Given the description of an element on the screen output the (x, y) to click on. 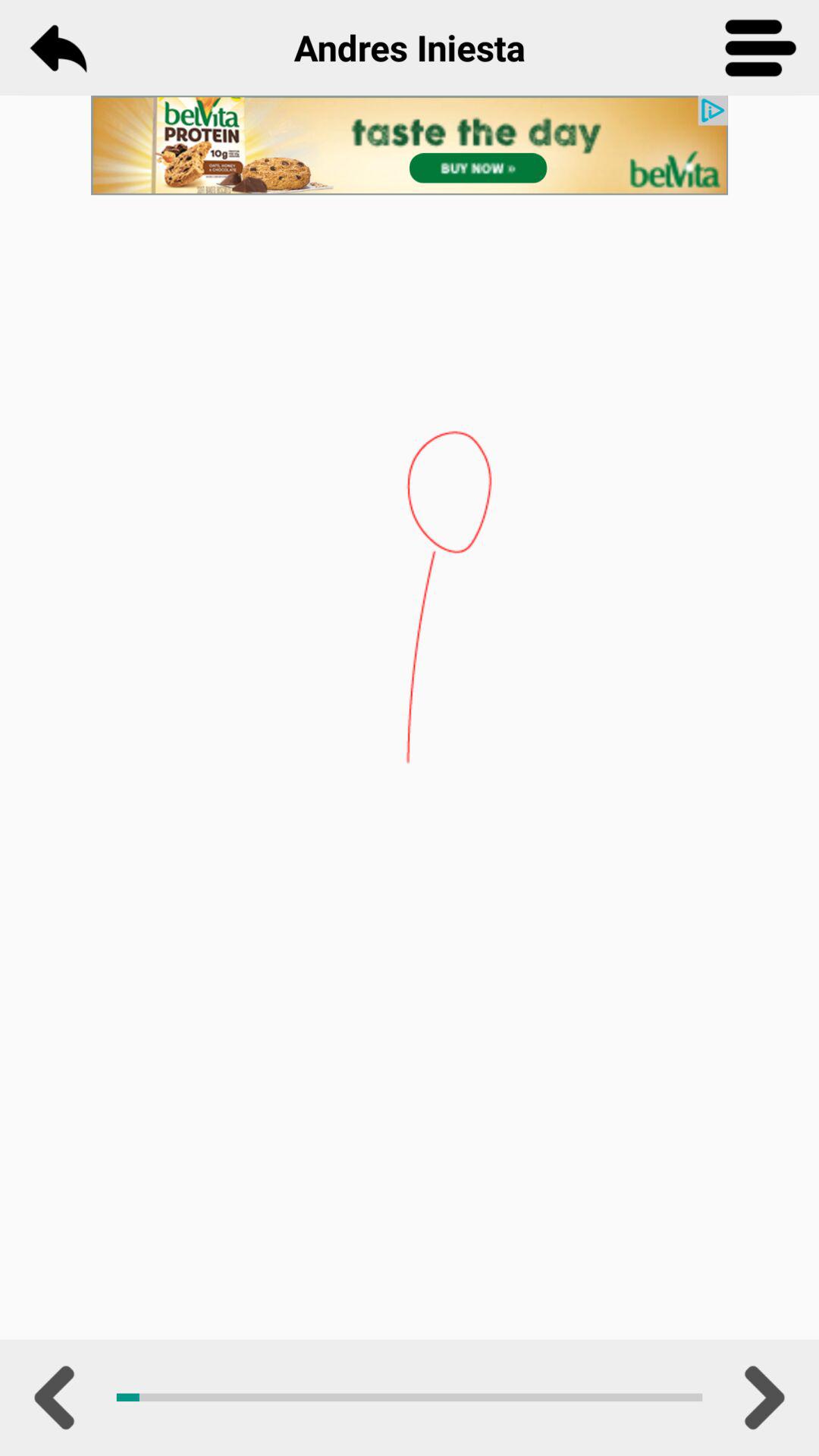
advertisement page (409, 145)
